Given the description of an element on the screen output the (x, y) to click on. 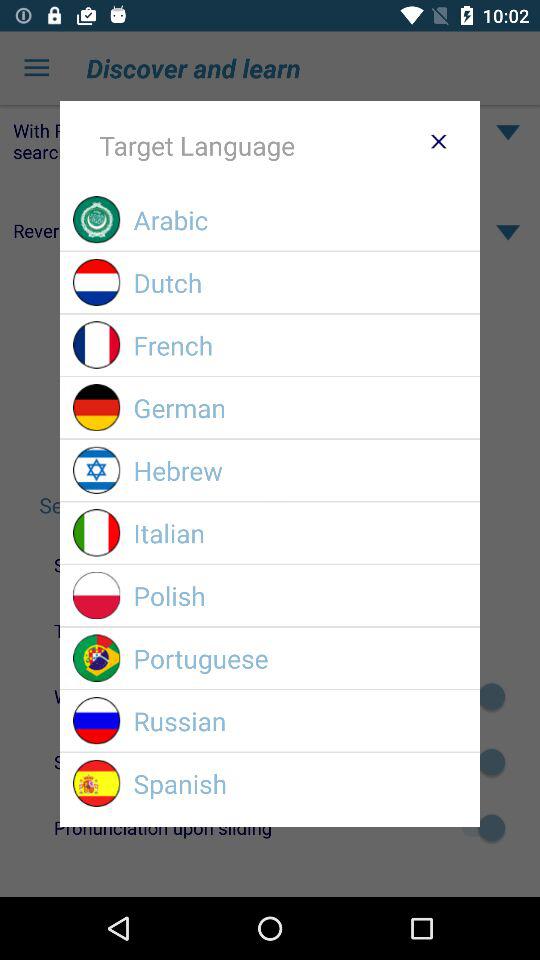
choose the item above the arabic icon (438, 141)
